Given the description of an element on the screen output the (x, y) to click on. 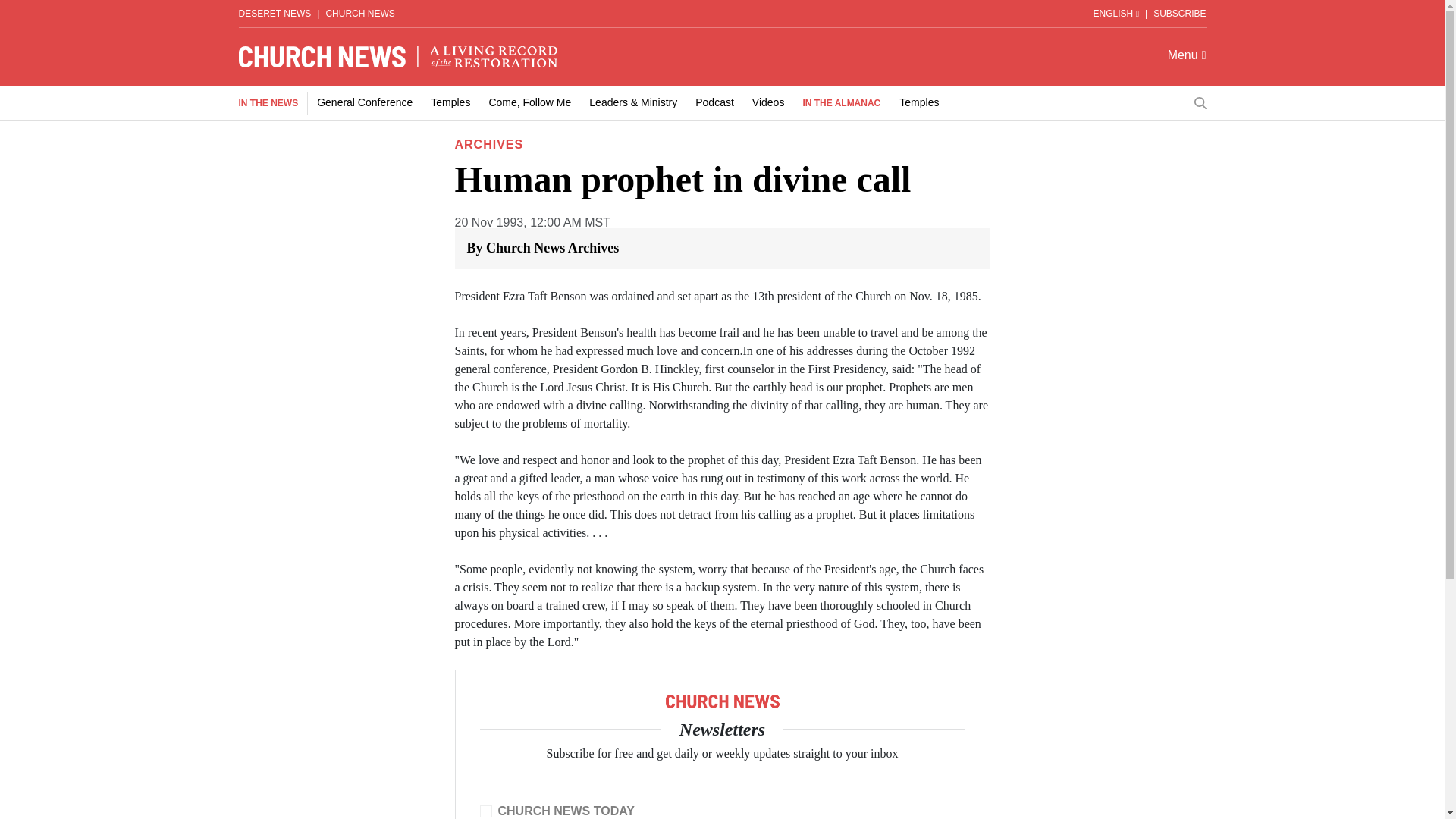
Temples (450, 102)
DESERET NEWS (274, 13)
Come, Follow Me (528, 102)
Videos (768, 102)
SUBSCRIBE (1179, 13)
General Conference (364, 102)
Podcast (714, 102)
Church News Today (485, 811)
Temples (919, 102)
CHURCH NEWS (359, 13)
